Given the description of an element on the screen output the (x, y) to click on. 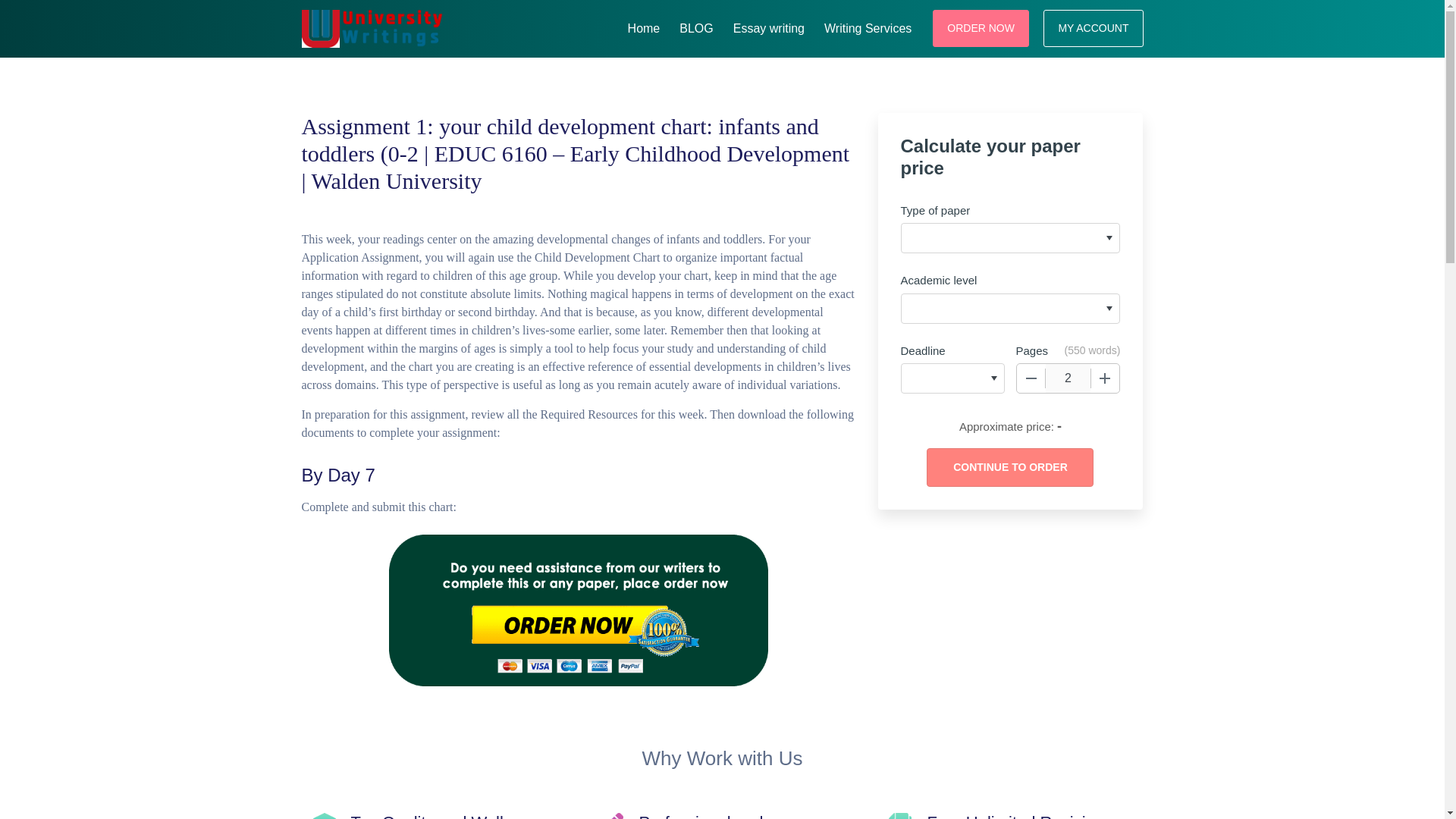
2 (1067, 378)
Writing Services (867, 26)
Decrease (1030, 378)
BLOG (695, 26)
Writing Services (867, 26)
BLOG (695, 26)
Continue to order (1009, 466)
Continue to order (1009, 466)
Home (643, 26)
Essay writing (768, 26)
ORDER NOW (981, 27)
Home (643, 26)
Essay writing (768, 26)
Increase (1104, 378)
MY ACCOUNT (1092, 27)
